Given the description of an element on the screen output the (x, y) to click on. 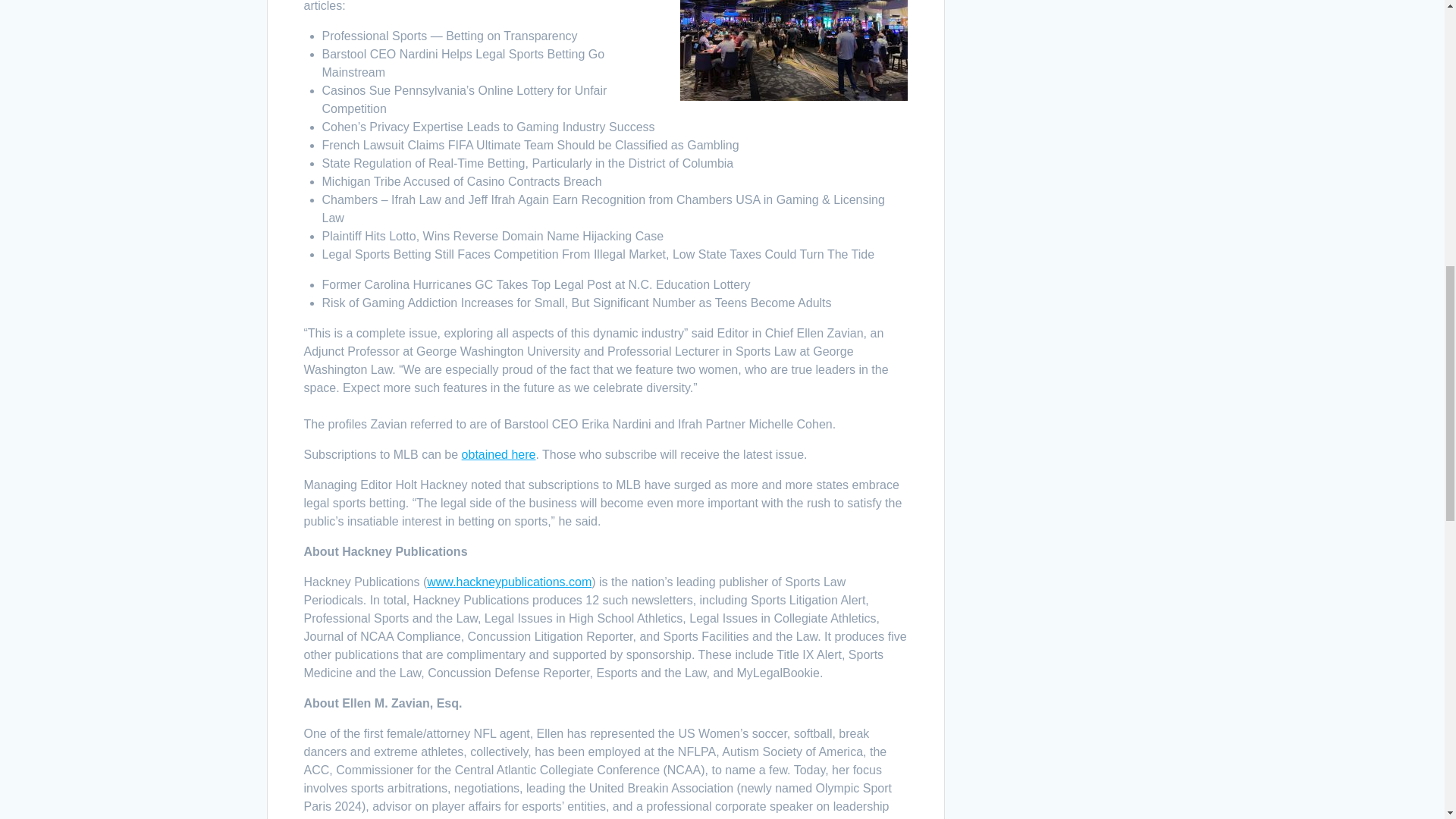
www.hackneypublications.com (508, 581)
obtained here (498, 454)
